Given the description of an element on the screen output the (x, y) to click on. 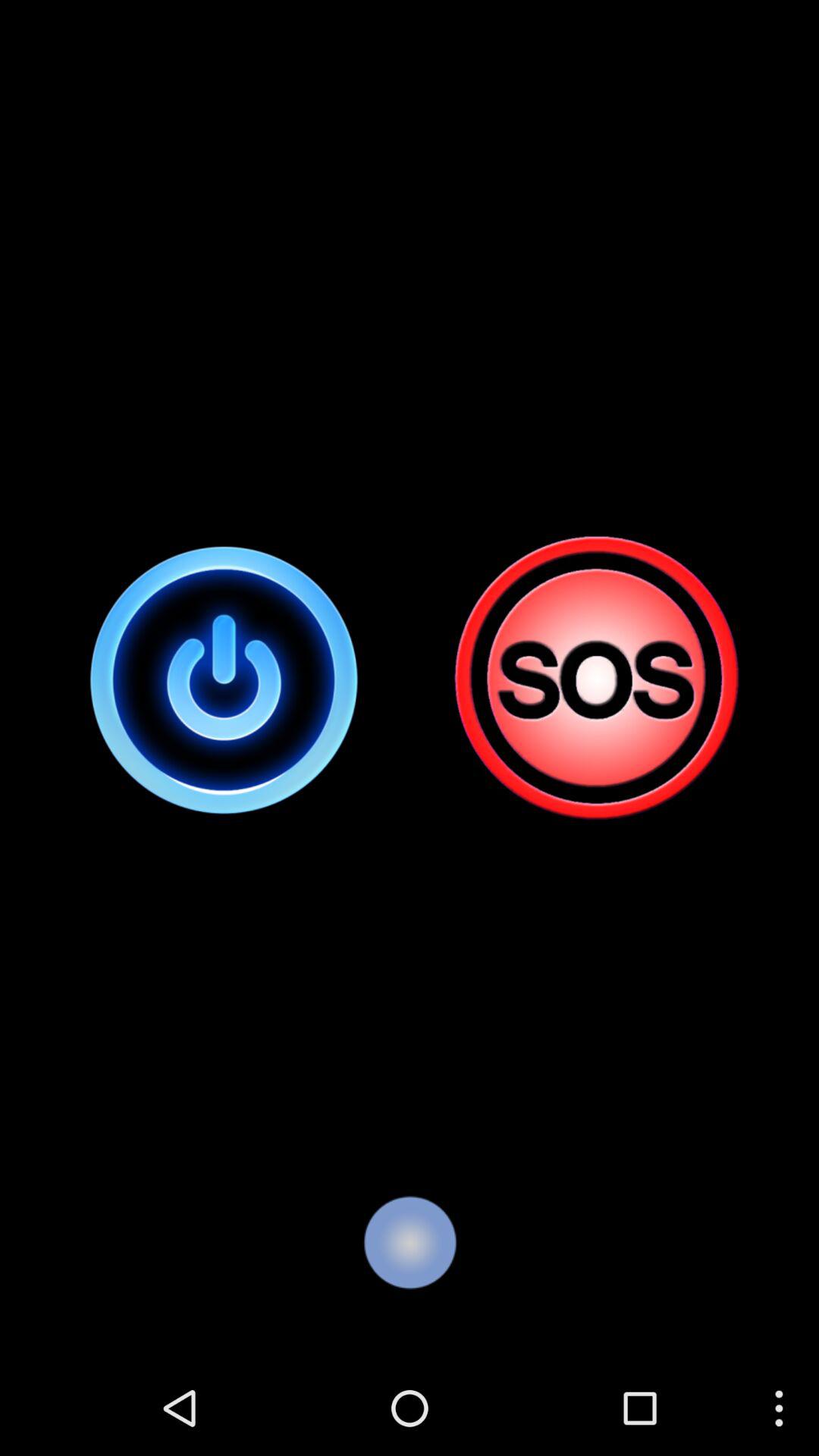
turn on the button at the bottom (409, 1242)
